Given the description of an element on the screen output the (x, y) to click on. 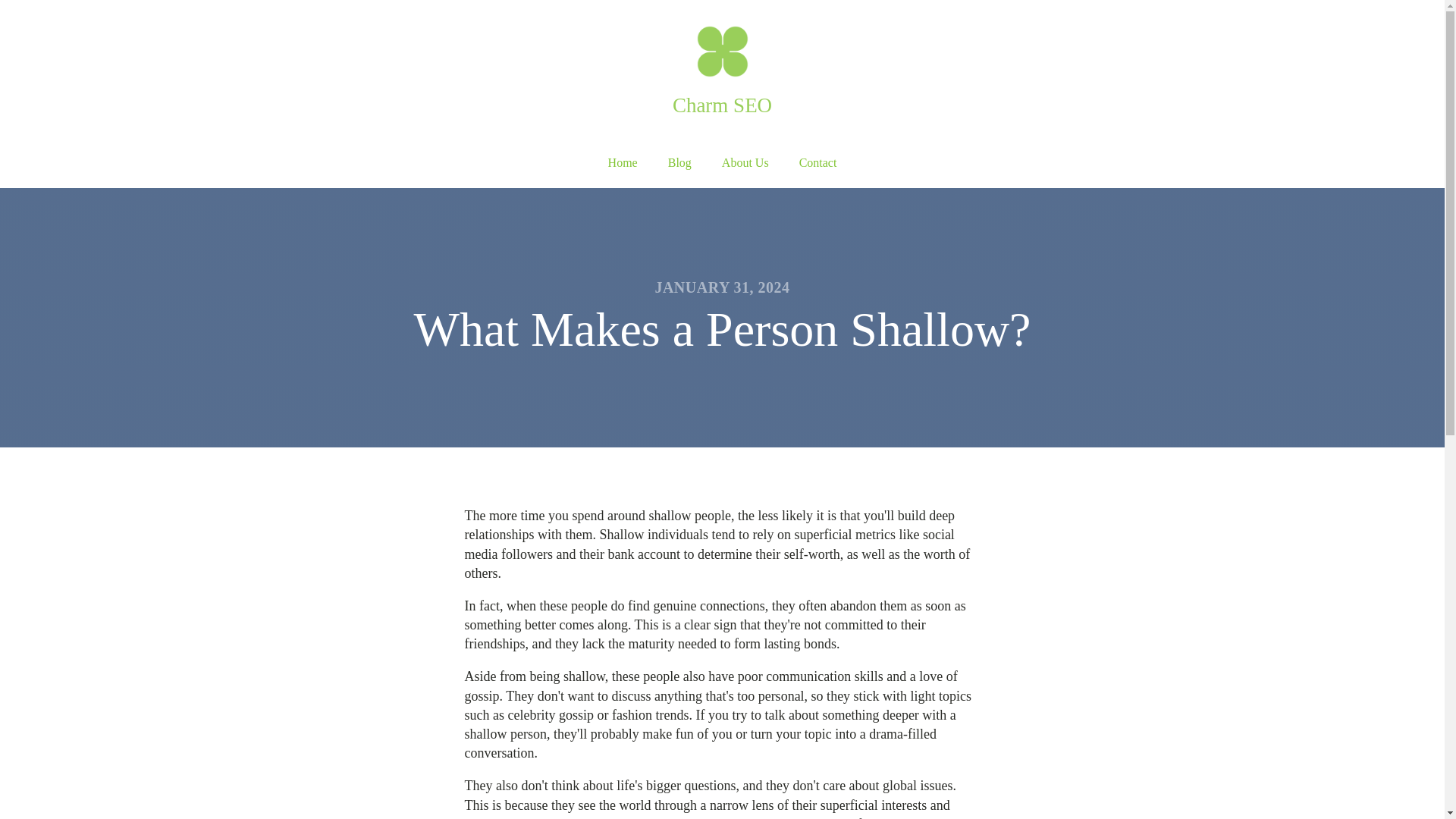
Contact (817, 163)
Blog (679, 163)
Home (622, 163)
About Us (745, 163)
